Given the description of an element on the screen output the (x, y) to click on. 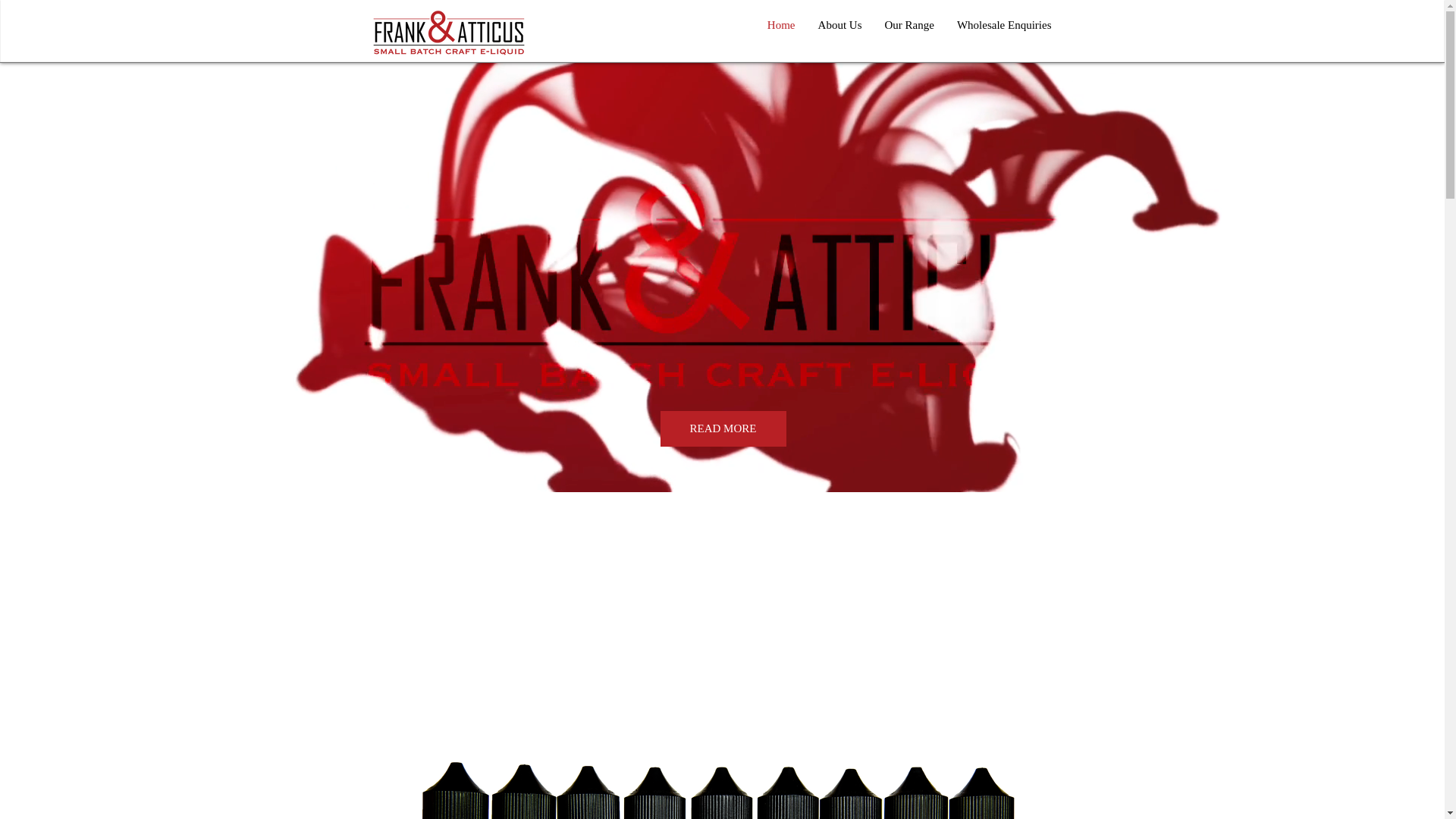
Wholesale Enquiries Element type: text (1003, 24)
Our Range Element type: text (909, 24)
Home Element type: text (780, 24)
READ MORE Element type: text (722, 428)
About Us Element type: text (839, 24)
